Given the description of an element on the screen output the (x, y) to click on. 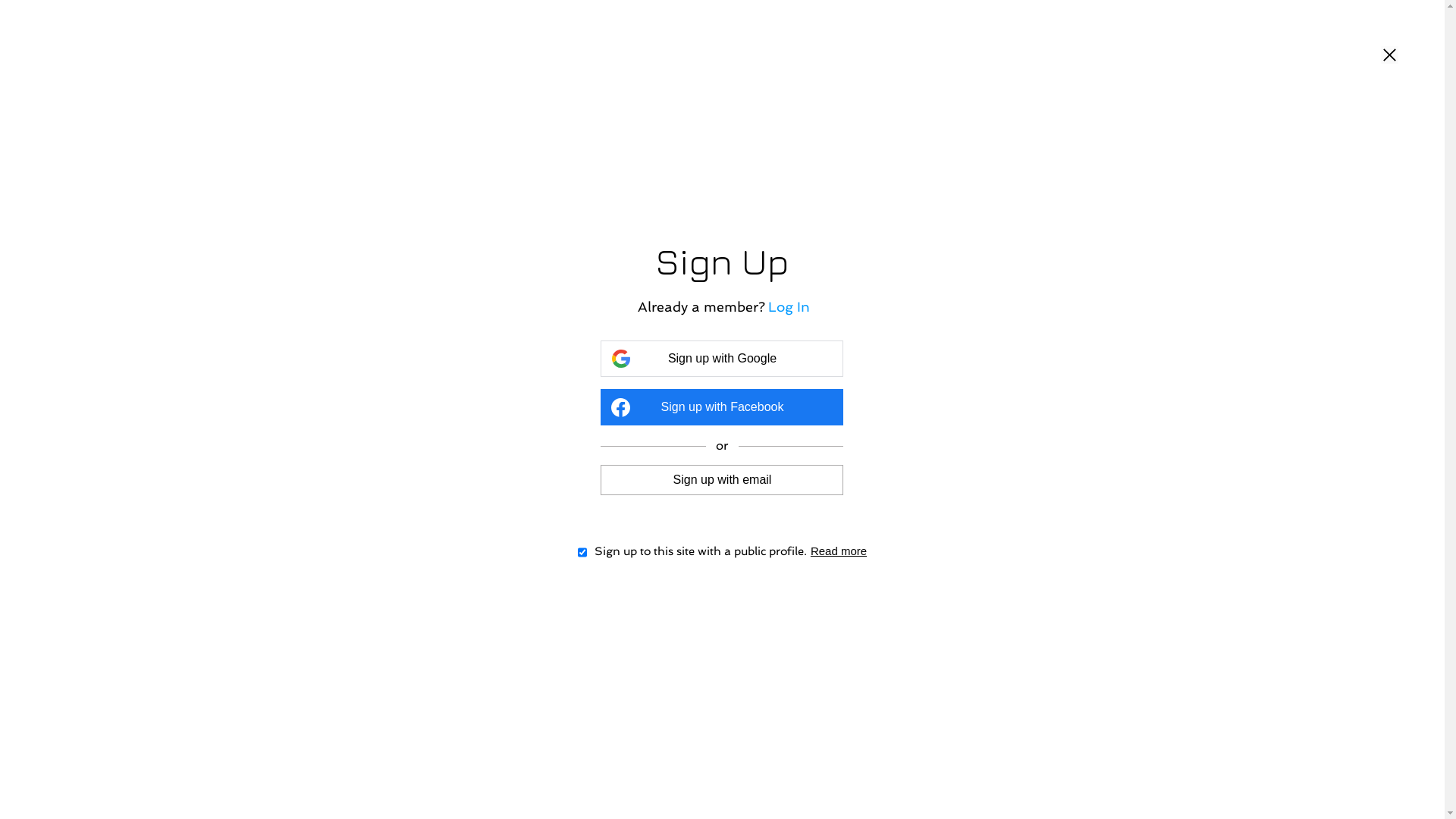
Sign up with email Element type: text (721, 479)
Log In Element type: text (788, 306)
Read more Element type: text (838, 550)
Sign up with Google Element type: text (721, 358)
Sign up with Facebook Element type: text (721, 407)
